Given the description of an element on the screen output the (x, y) to click on. 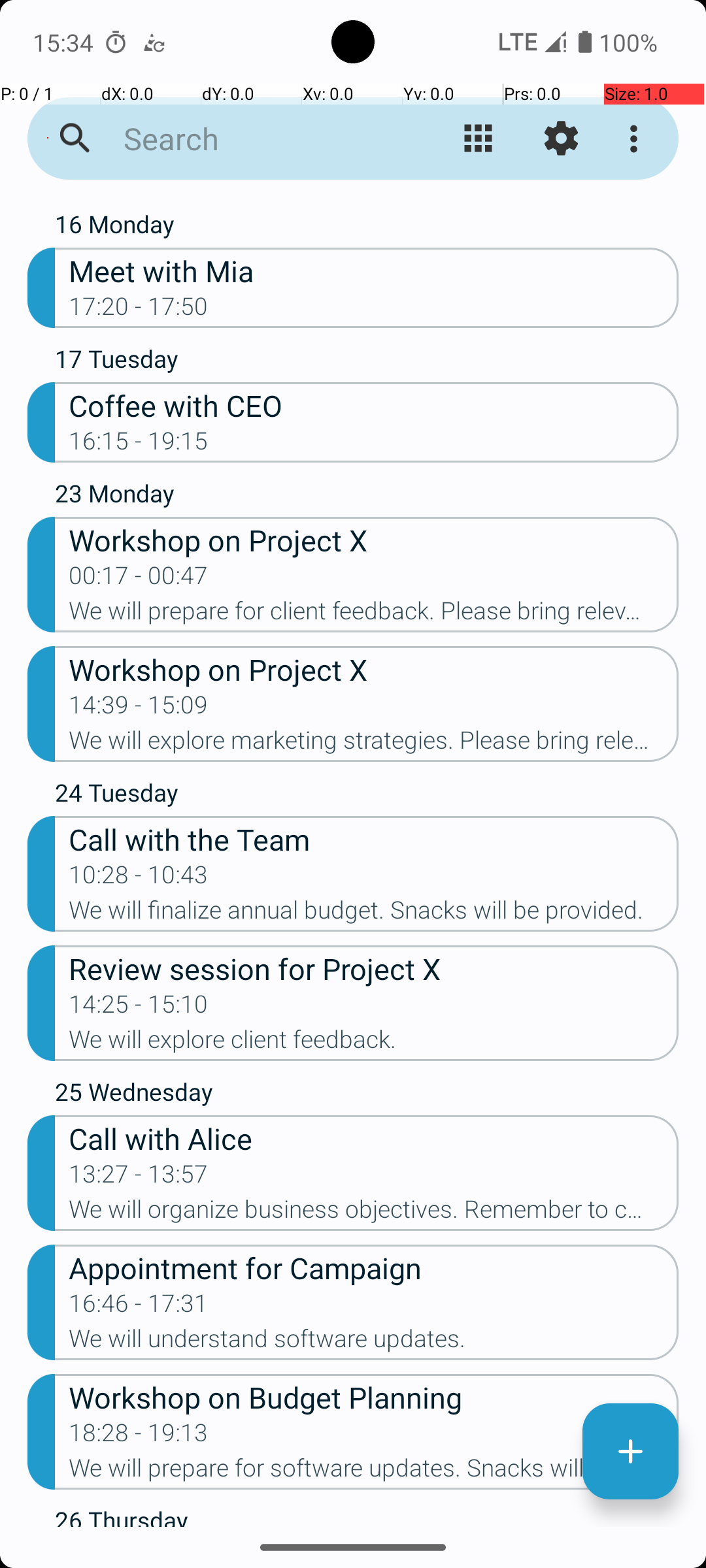
25 Wednesday Element type: android.widget.TextView (366, 1094)
26 Thursday Element type: android.widget.TextView (366, 1514)
Meet with Mia Element type: android.widget.TextView (373, 269)
17:20 - 17:50 Element type: android.widget.TextView (137, 309)
Coffee with CEO Element type: android.widget.TextView (373, 404)
16:15 - 19:15 Element type: android.widget.TextView (137, 444)
00:17 - 00:47 Element type: android.widget.TextView (137, 579)
We will prepare for client feedback. Please bring relevant documents. Element type: android.widget.TextView (373, 614)
14:39 - 15:09 Element type: android.widget.TextView (137, 708)
We will explore marketing strategies. Please bring relevant documents. Element type: android.widget.TextView (373, 743)
10:28 - 10:43 Element type: android.widget.TextView (137, 878)
We will finalize annual budget. Snacks will be provided. Element type: android.widget.TextView (373, 913)
14:25 - 15:10 Element type: android.widget.TextView (137, 1007)
We will explore client feedback. Element type: android.widget.TextView (373, 1043)
13:27 - 13:57 Element type: android.widget.TextView (137, 1177)
We will organize business objectives. Remember to confirm attendance. Element type: android.widget.TextView (373, 1212)
16:46 - 17:31 Element type: android.widget.TextView (137, 1306)
We will understand software updates. Element type: android.widget.TextView (373, 1342)
18:28 - 19:13 Element type: android.widget.TextView (137, 1436)
We will prepare for software updates. Snacks will be provided. Element type: android.widget.TextView (373, 1471)
